Given the description of an element on the screen output the (x, y) to click on. 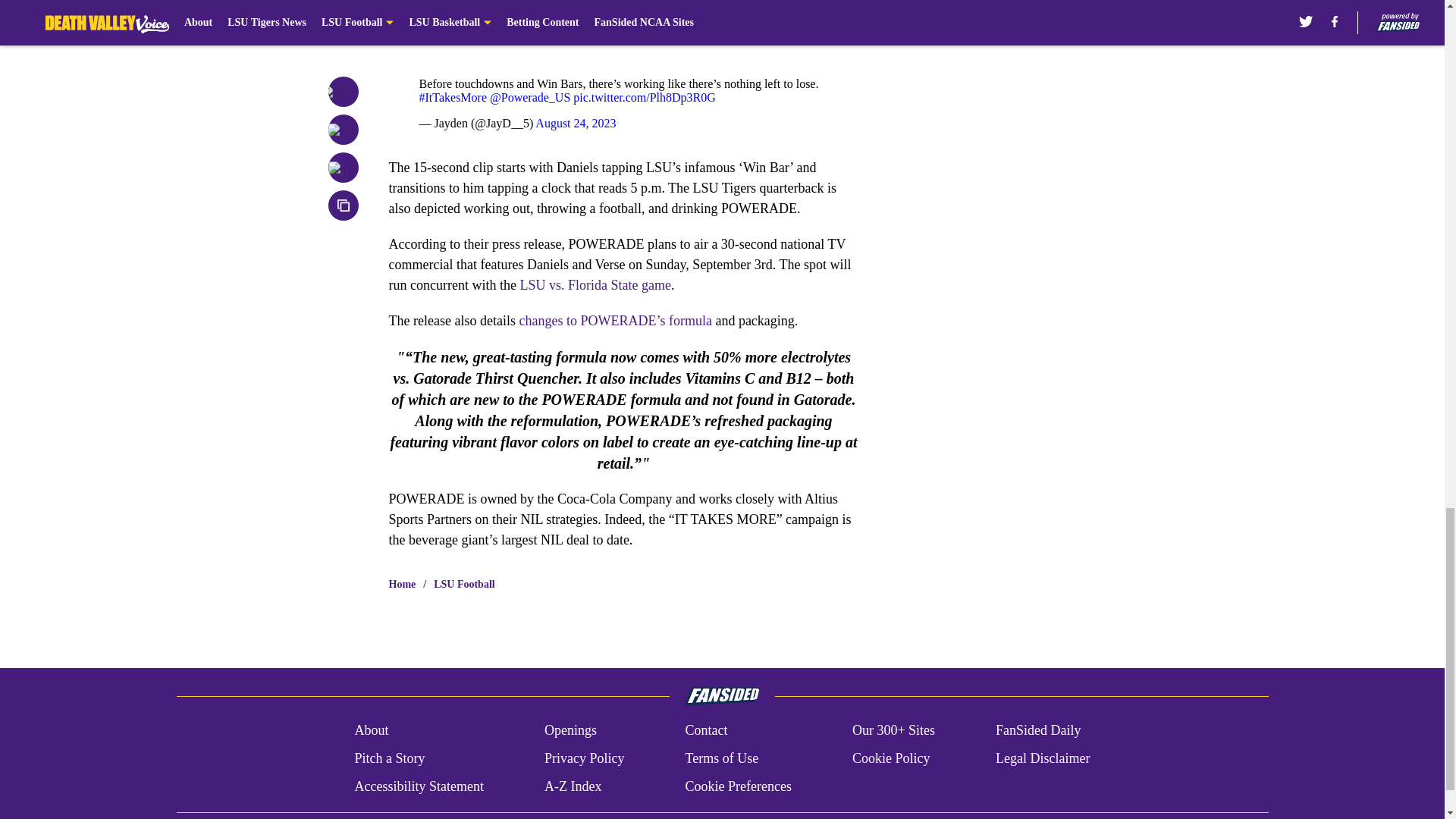
FanSided Daily (1038, 730)
About (370, 730)
Openings (570, 730)
LSU vs. Florida State game (593, 284)
Pitch a Story (389, 758)
August 24, 2023 (575, 123)
Home (401, 584)
Privacy Policy (584, 758)
LSU Football (464, 584)
Accessibility Statement (418, 786)
